Given the description of an element on the screen output the (x, y) to click on. 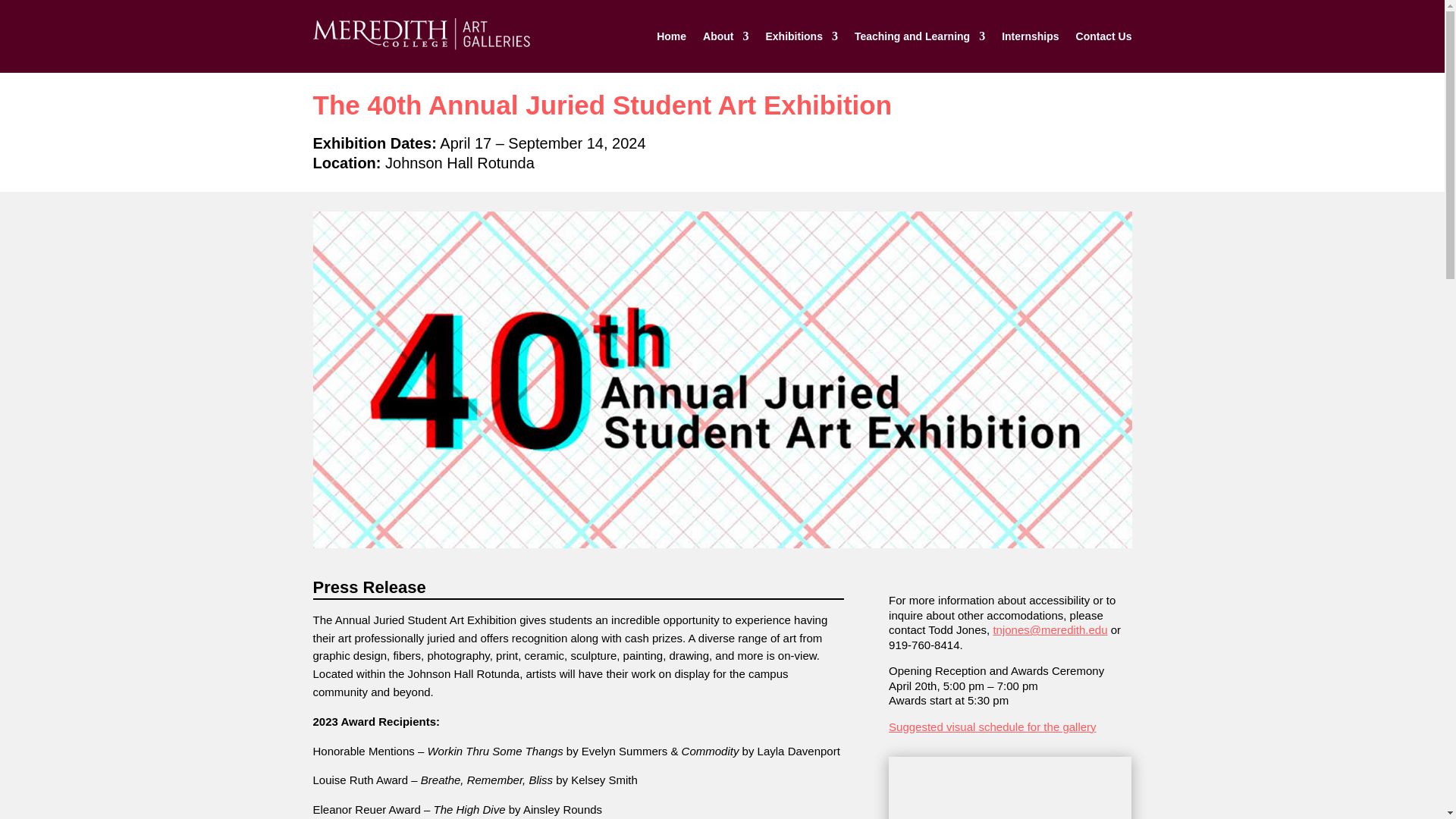
Exhibitions (801, 36)
Contact Us (1103, 36)
Suggested visual schedule for the gallery (992, 726)
Internships (1029, 36)
Artist Talk: Jean Gray Mohs (1009, 787)
Teaching and Learning (919, 36)
